Given the description of an element on the screen output the (x, y) to click on. 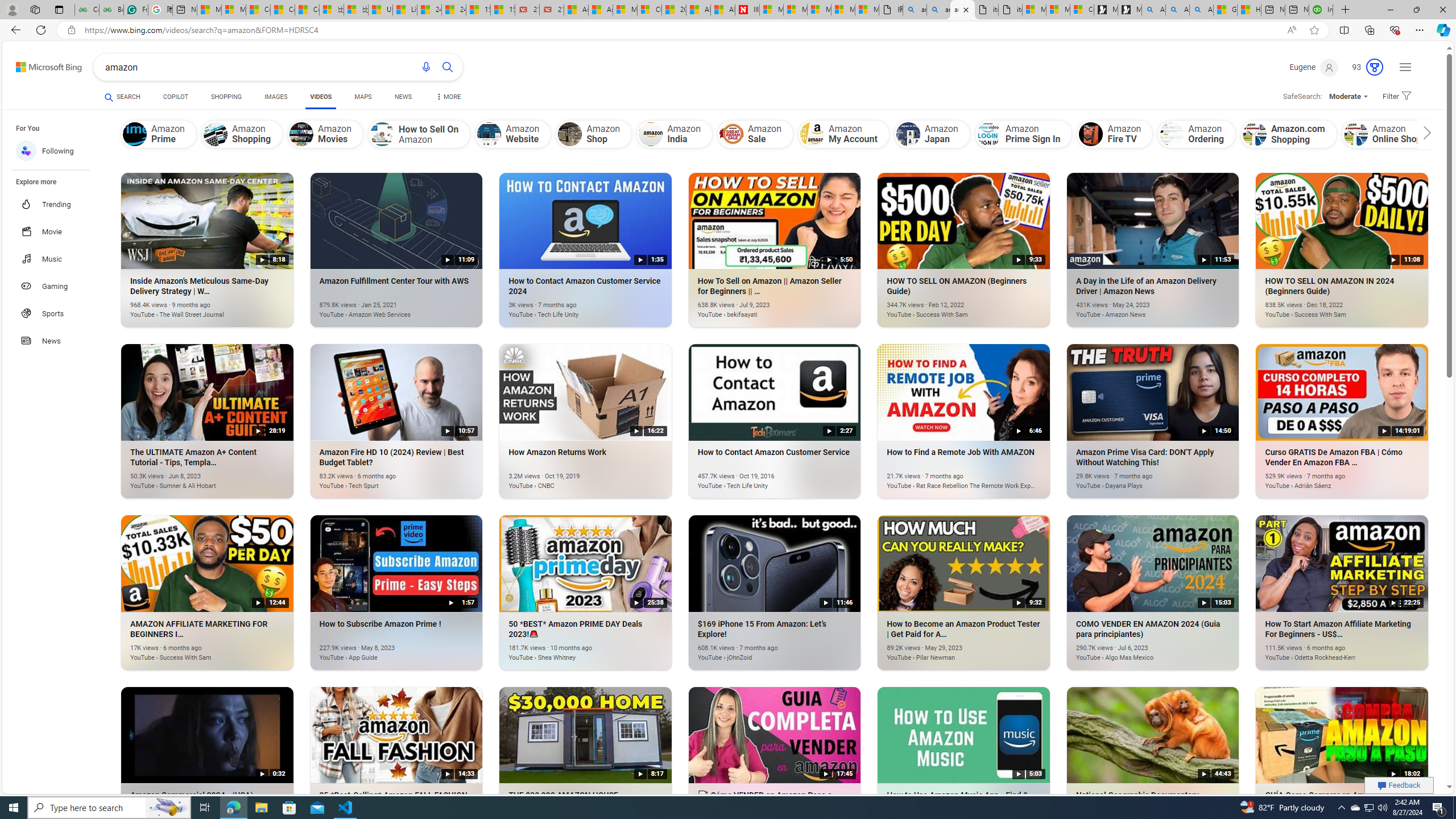
Free AI Writing Assistance for Students | Grammarly (135, 9)
Amazon Prime (134, 133)
Moderate SafeSearch: (1348, 96)
Alabama high school quarterback dies - Search Videos (1201, 9)
Dropdown Menu (447, 96)
COPILOT (175, 98)
